Given the description of an element on the screen output the (x, y) to click on. 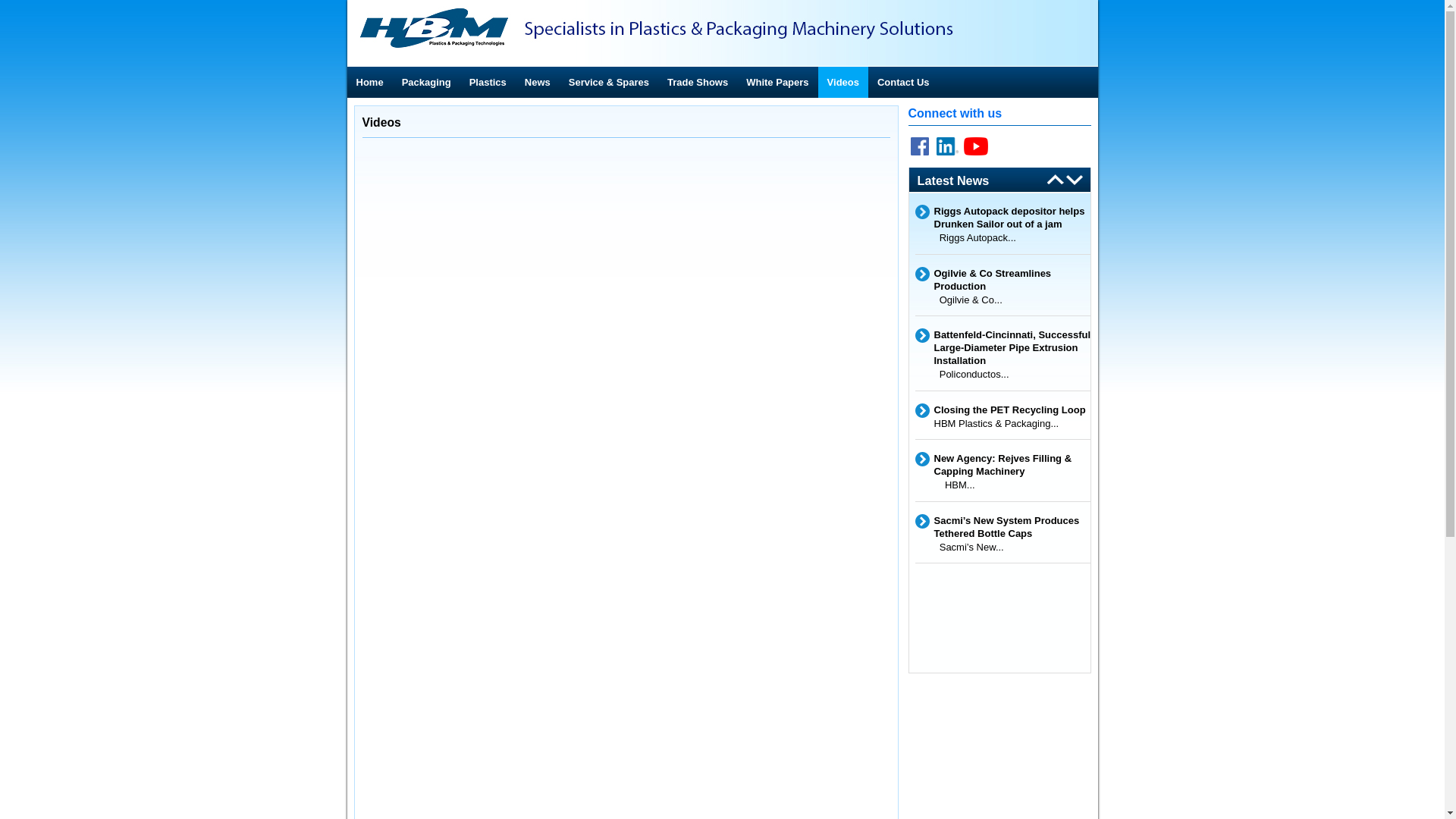
Closing the PET Recycling Loop Element type: text (1012, 409)
News Element type: text (537, 81)
New Agency: Rejves Filling & Capping Machinery Element type: text (1012, 464)
Home Element type: text (369, 81)
Packaging Element type: text (426, 81)
Trade Shows Element type: text (697, 81)
Service & Spares Element type: text (608, 81)
Next Element type: text (1050, 180)
Videos Element type: text (843, 81)
Ogilvie & Co Streamlines Production Element type: text (1012, 279)
Plastics Element type: text (487, 81)
Contact Us Element type: text (903, 81)
Riggs Autopack depositor helps Drunken Sailor out of a jam Element type: text (1012, 217)
Previous Element type: text (1074, 180)
White Papers Element type: text (777, 81)
